Given the description of an element on the screen output the (x, y) to click on. 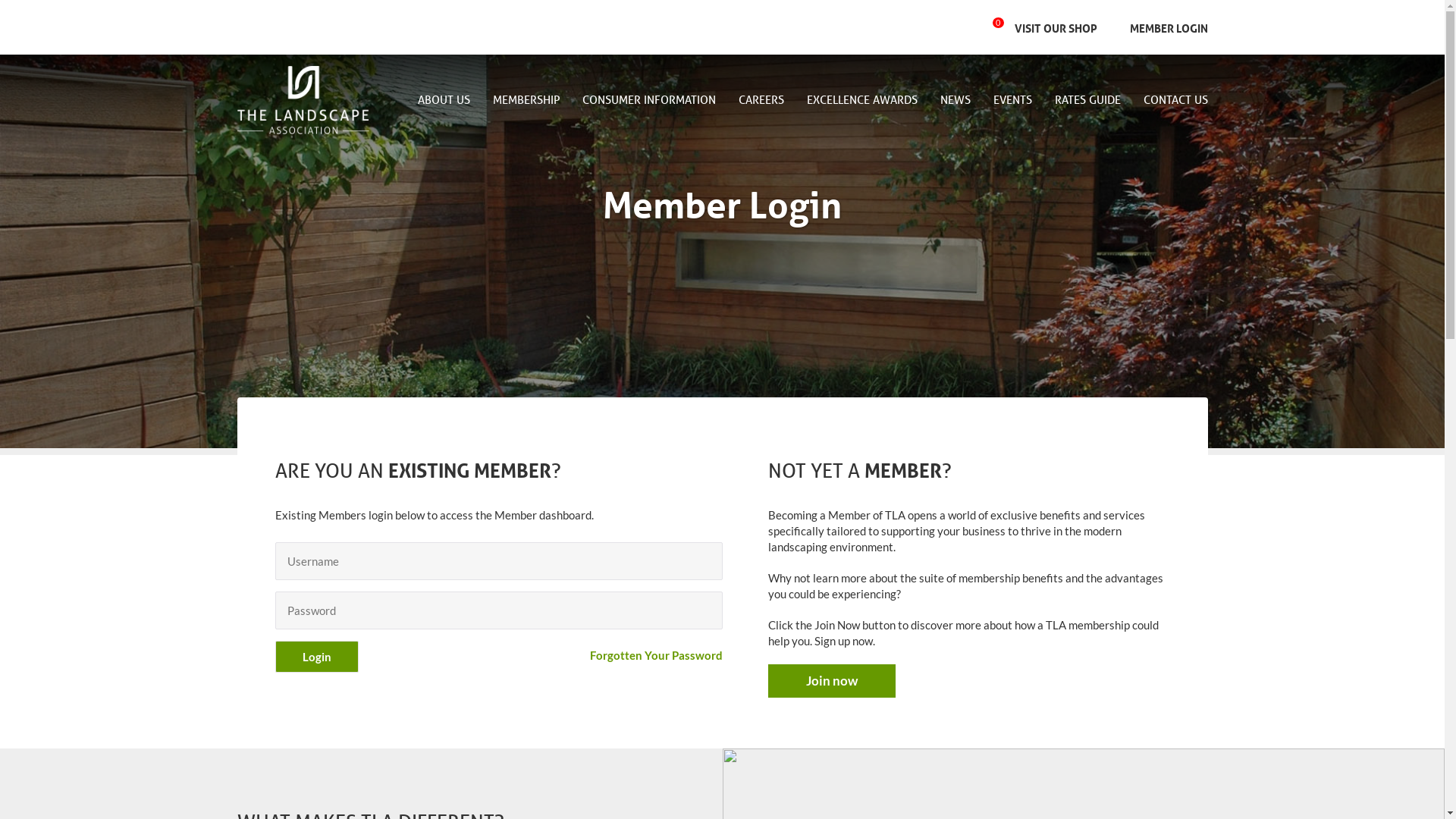
EVENTS Element type: text (1012, 101)
Forgotten Your Password Element type: text (655, 655)
VISIT OUR SHOP Element type: text (1055, 27)
CAREERS Element type: text (761, 101)
NEWS Element type: text (955, 101)
Search Element type: hover (906, 27)
MEMBER LOGIN Element type: text (1163, 27)
Login Element type: text (315, 656)
RATES GUIDE Element type: text (1087, 100)
Join now Element type: text (830, 680)
MEMBERSHIP Element type: text (525, 101)
0 Element type: text (1003, 26)
ABOUT US Element type: text (443, 101)
EXCELLENCE AWARDS Element type: text (861, 101)
CONTACT US Element type: text (1169, 100)
CONSUMER INFORMATION Element type: text (648, 101)
